Given the description of an element on the screen output the (x, y) to click on. 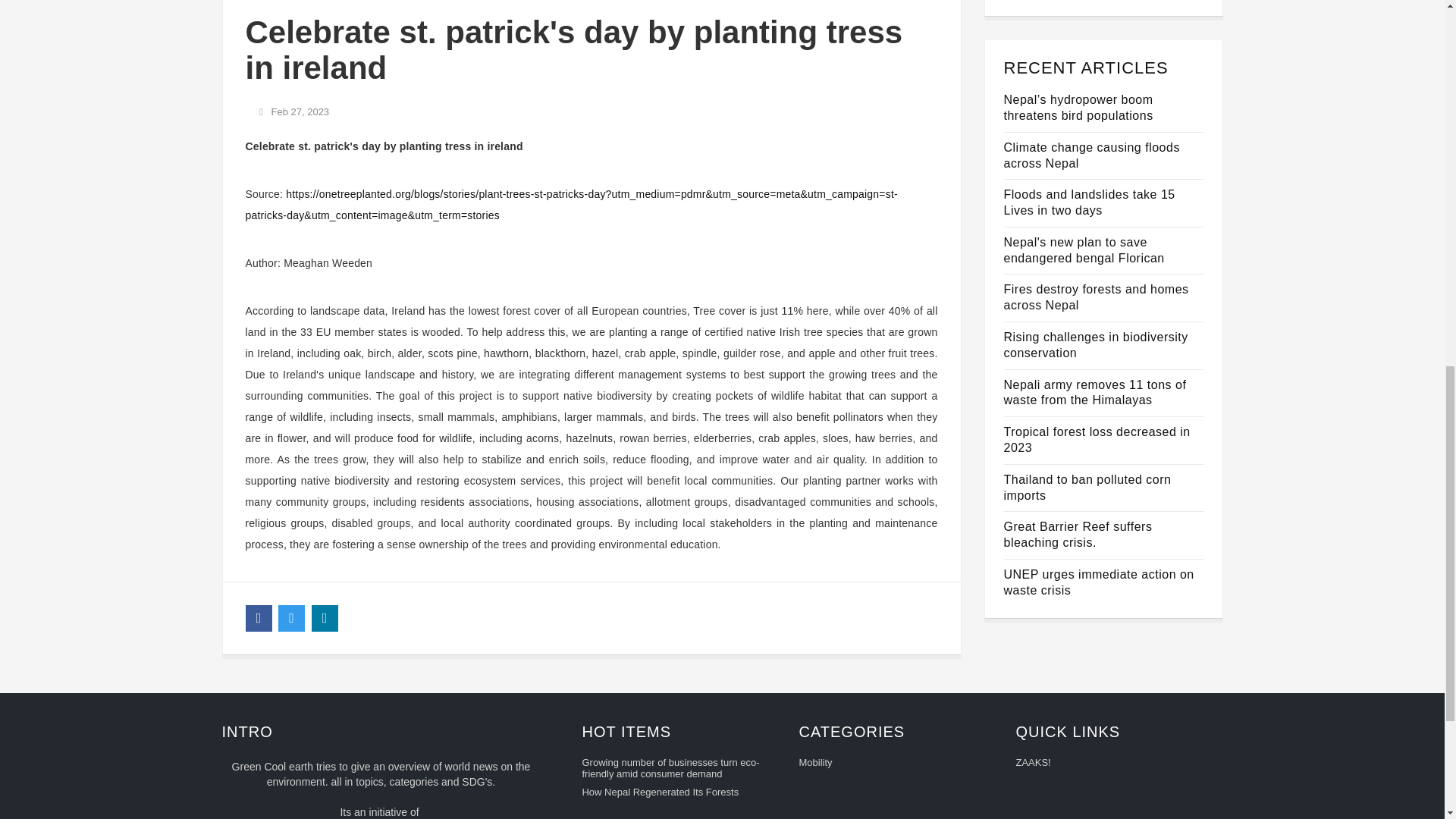
Mobility (896, 764)
How Nepal Regenerated Its Forests (679, 793)
Tropical forest loss decreased in 2023 (1097, 439)
Floods and landslides take 15 Lives in two days (1089, 202)
Nepali army removes 11 tons of waste from the Himalayas (1095, 392)
Fires destroy forests and homes across Nepal (1096, 297)
ZAAKS! (1113, 764)
Climate change causing floods across Nepal (1091, 154)
Rising challenges in biodiversity conservation (1096, 344)
UNEP urges immediate action on waste crisis (1098, 582)
Great Barrier Reef suffers bleaching crisis. (1078, 534)
Nepal's new plan to save endangered bengal Florican (1084, 249)
Thailand to ban polluted corn imports (1088, 487)
